Given the description of an element on the screen output the (x, y) to click on. 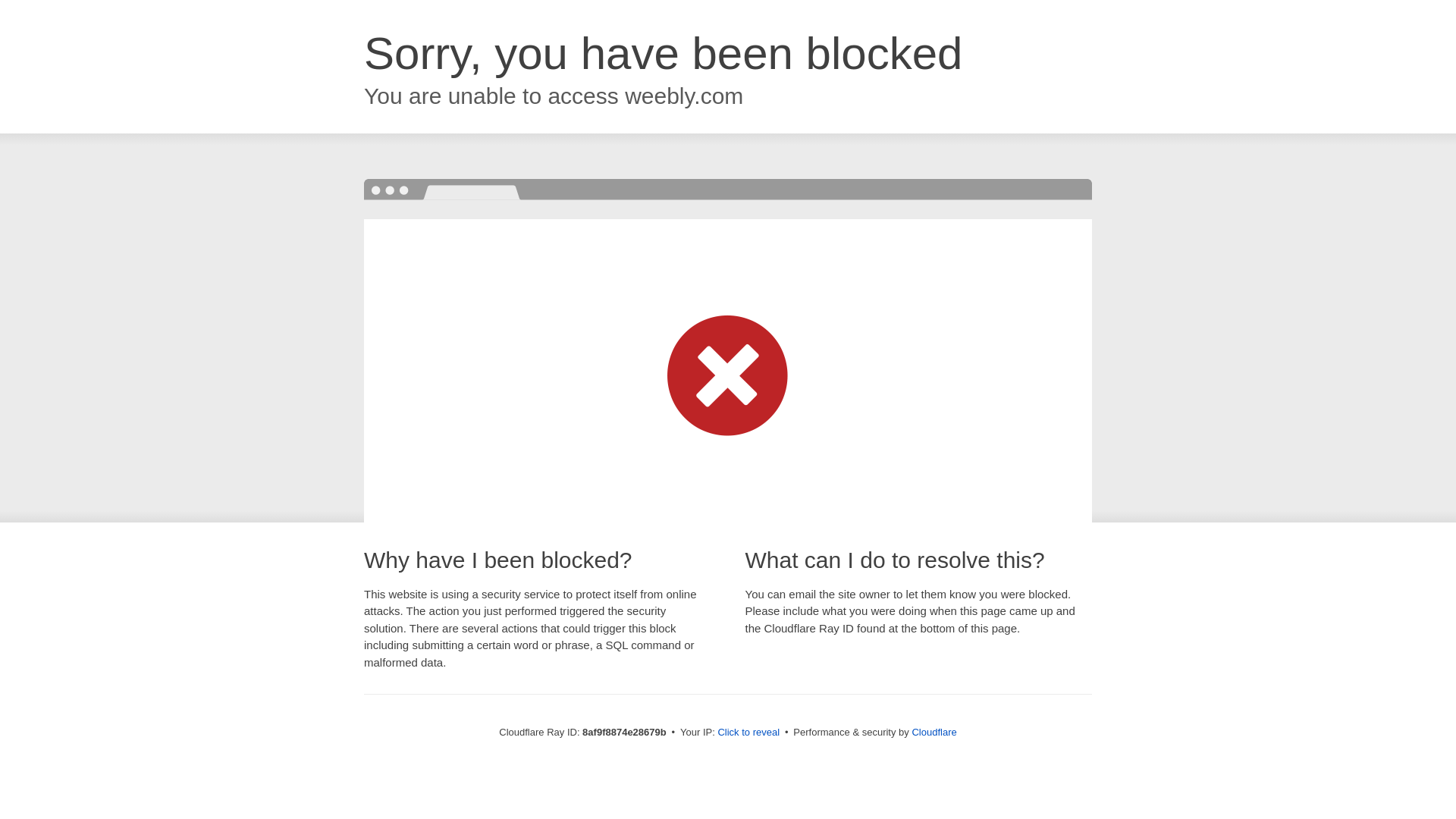
Cloudflare (933, 731)
Click to reveal (747, 732)
